Given the description of an element on the screen output the (x, y) to click on. 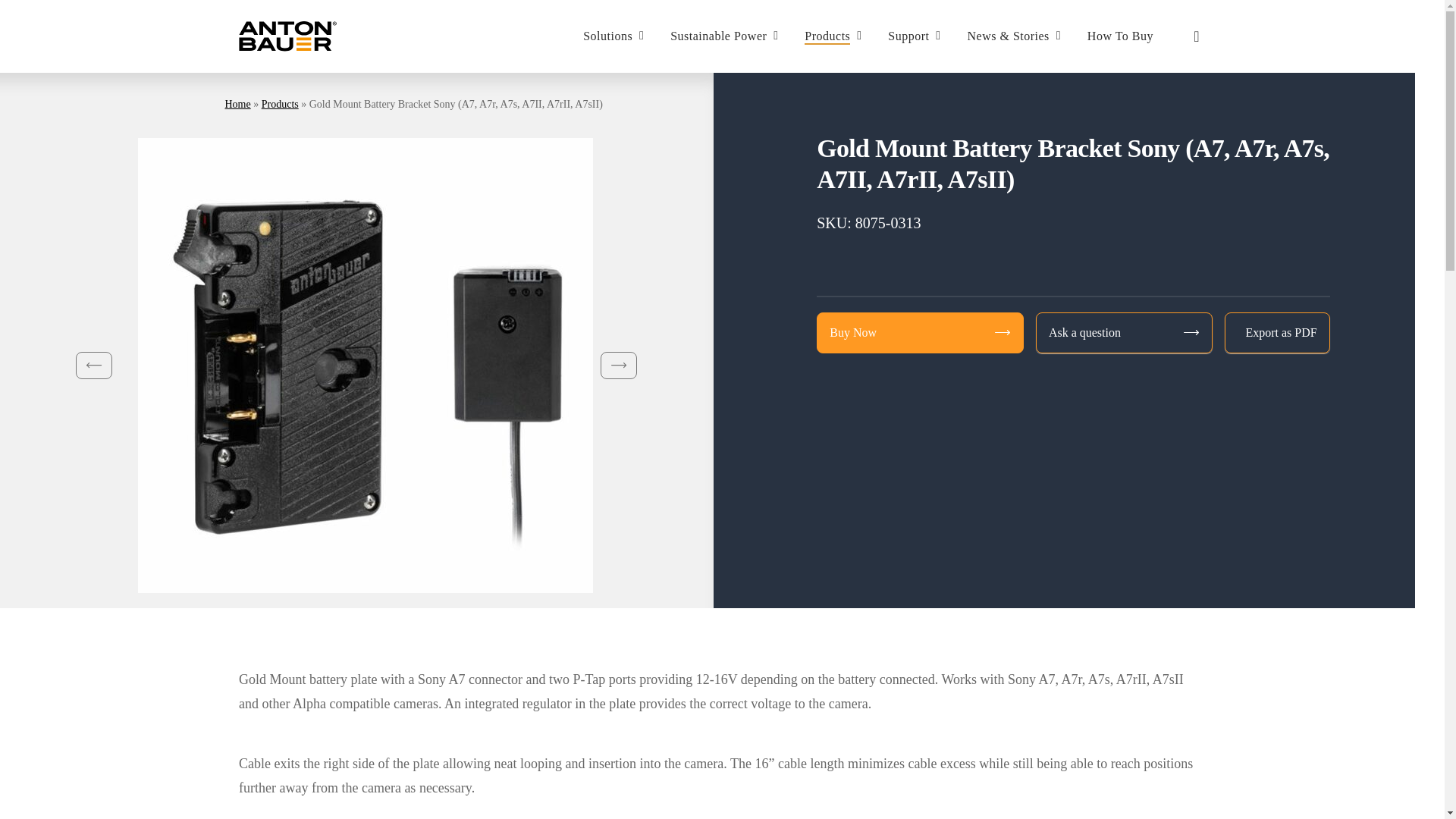
Sustainable Power (725, 36)
Solutions (615, 36)
Products (834, 36)
